Given the description of an element on the screen output the (x, y) to click on. 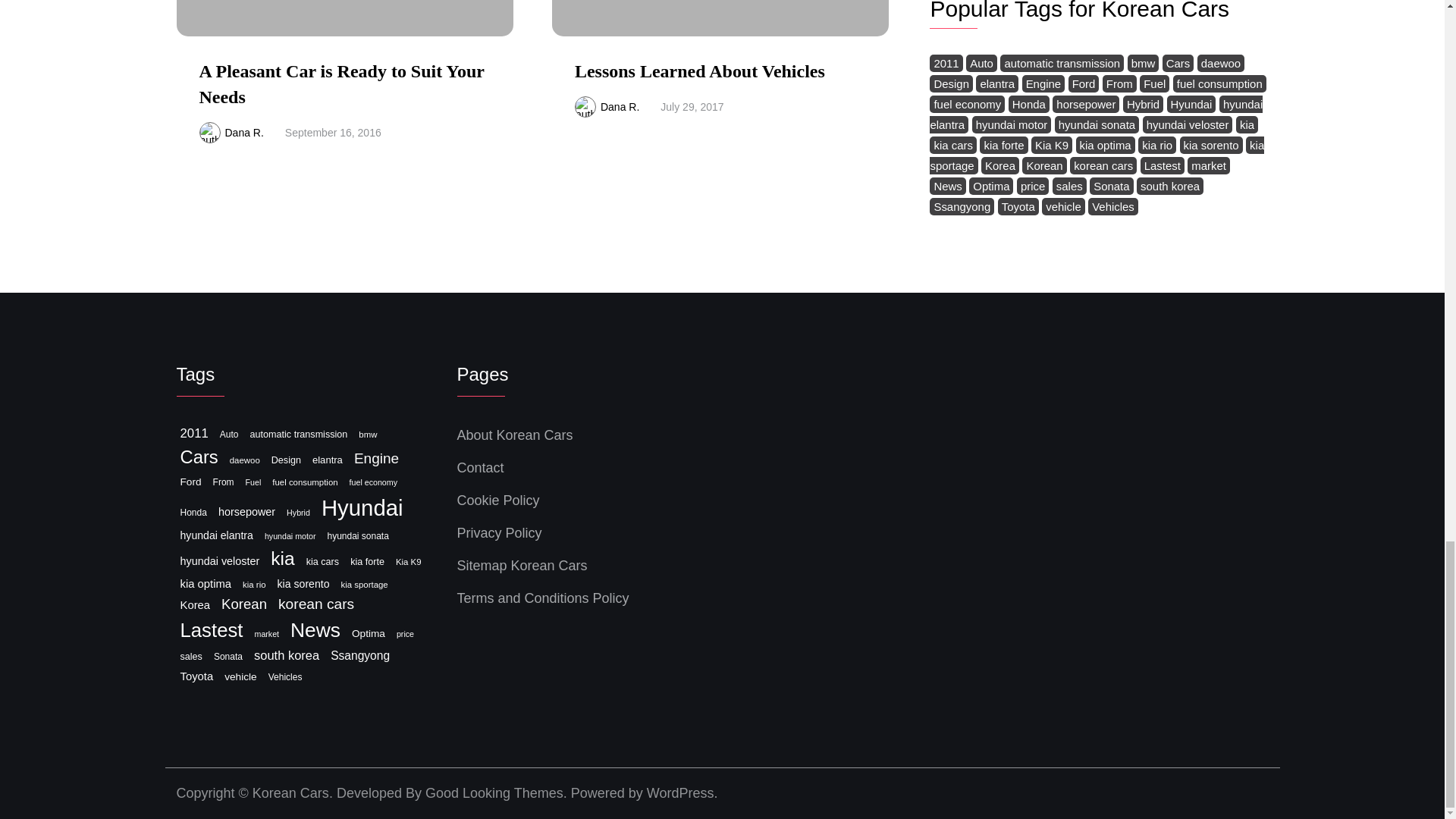
A Pleasant Car is Ready to Suit Your Needs (340, 84)
Lessons Learned About Vehicles (700, 71)
Dana R. (243, 132)
July 29, 2017 (692, 106)
September 16, 2016 (333, 132)
Dana R. (619, 106)
